Given the description of an element on the screen output the (x, y) to click on. 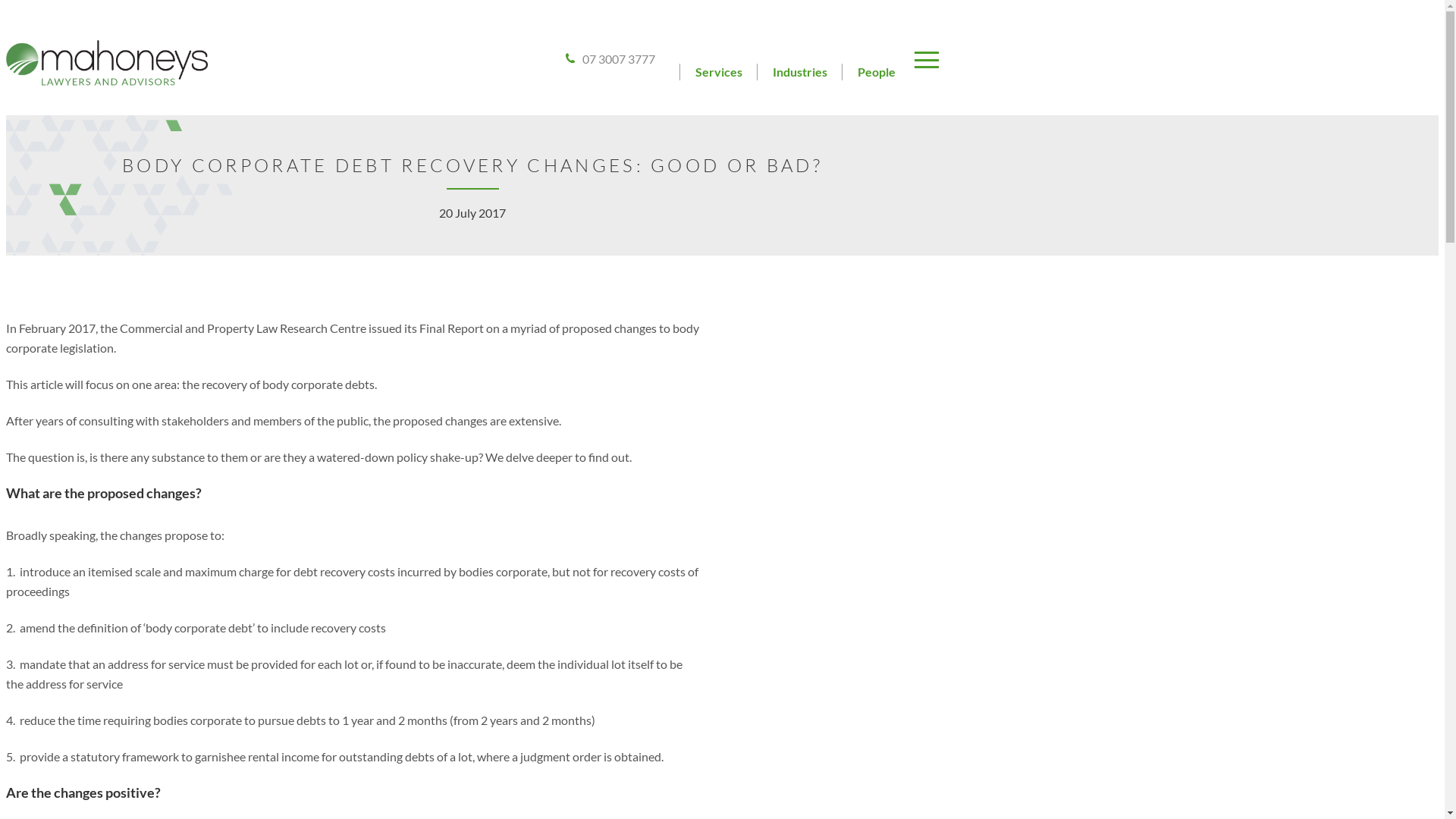
07 3007 3777 Element type: text (610, 58)
Skip to content Element type: text (5, 5)
Industries Element type: text (799, 71)
People Element type: text (876, 71)
Services Element type: text (718, 71)
